Given the description of an element on the screen output the (x, y) to click on. 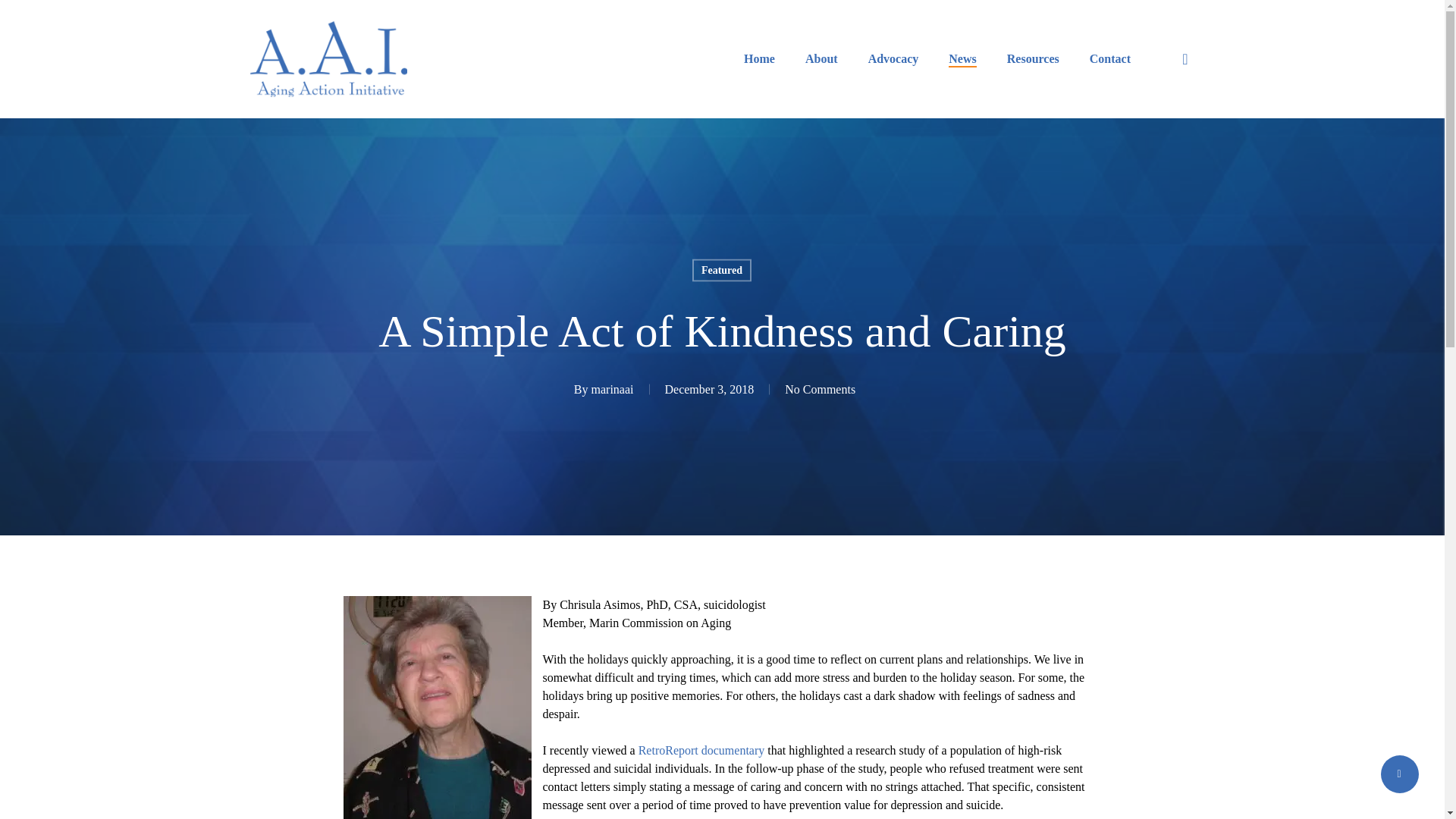
marinaai (612, 388)
About (821, 58)
RetroReport documentary (702, 749)
News (962, 58)
Featured (722, 270)
Advocacy (892, 58)
Home (759, 58)
Resources (1033, 58)
Posts by marinaai (612, 388)
No Comments (820, 388)
Contact (1110, 58)
search (1184, 59)
